Given the description of an element on the screen output the (x, y) to click on. 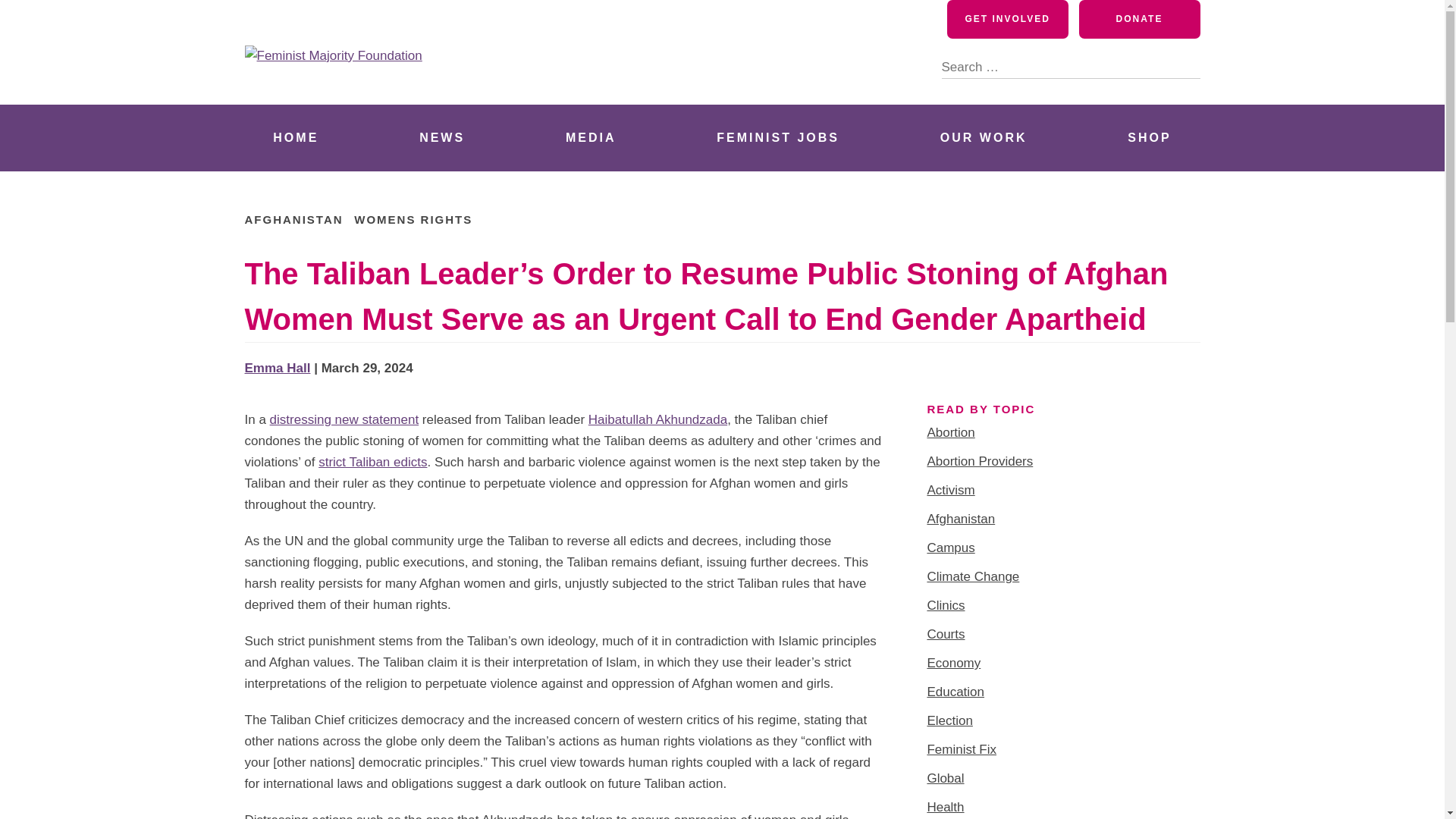
WOMENS RIGHTS (412, 219)
FEMINIST JOBS (777, 137)
Abortion Providers (979, 461)
Feminist Majority Foundation (445, 86)
NEWS (441, 137)
Search for: (1070, 58)
Activism (950, 490)
Search (1187, 66)
Emma Hall (277, 368)
Abortion (950, 432)
